Given the description of an element on the screen output the (x, y) to click on. 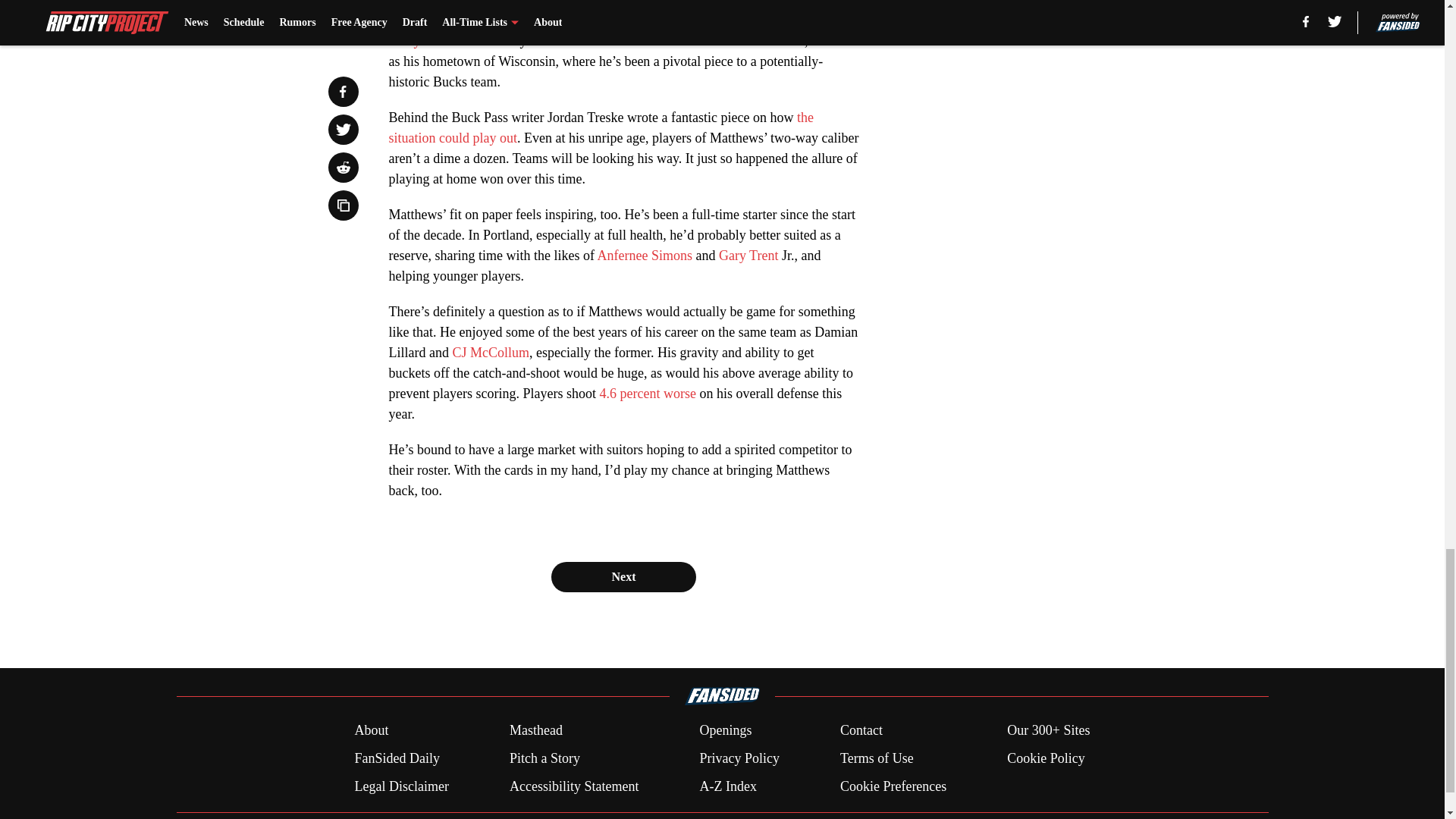
About (370, 730)
Anfernee Simons (643, 255)
Next (622, 576)
Gary Trent (748, 255)
Openings (724, 730)
the situation could play out (600, 127)
Masthead (535, 730)
4.6 percent worse (646, 393)
Stephen Curry (613, 30)
CJ McCollum (490, 352)
Contact (861, 730)
Giannis Antetokounmpo (584, 13)
